Given the description of an element on the screen output the (x, y) to click on. 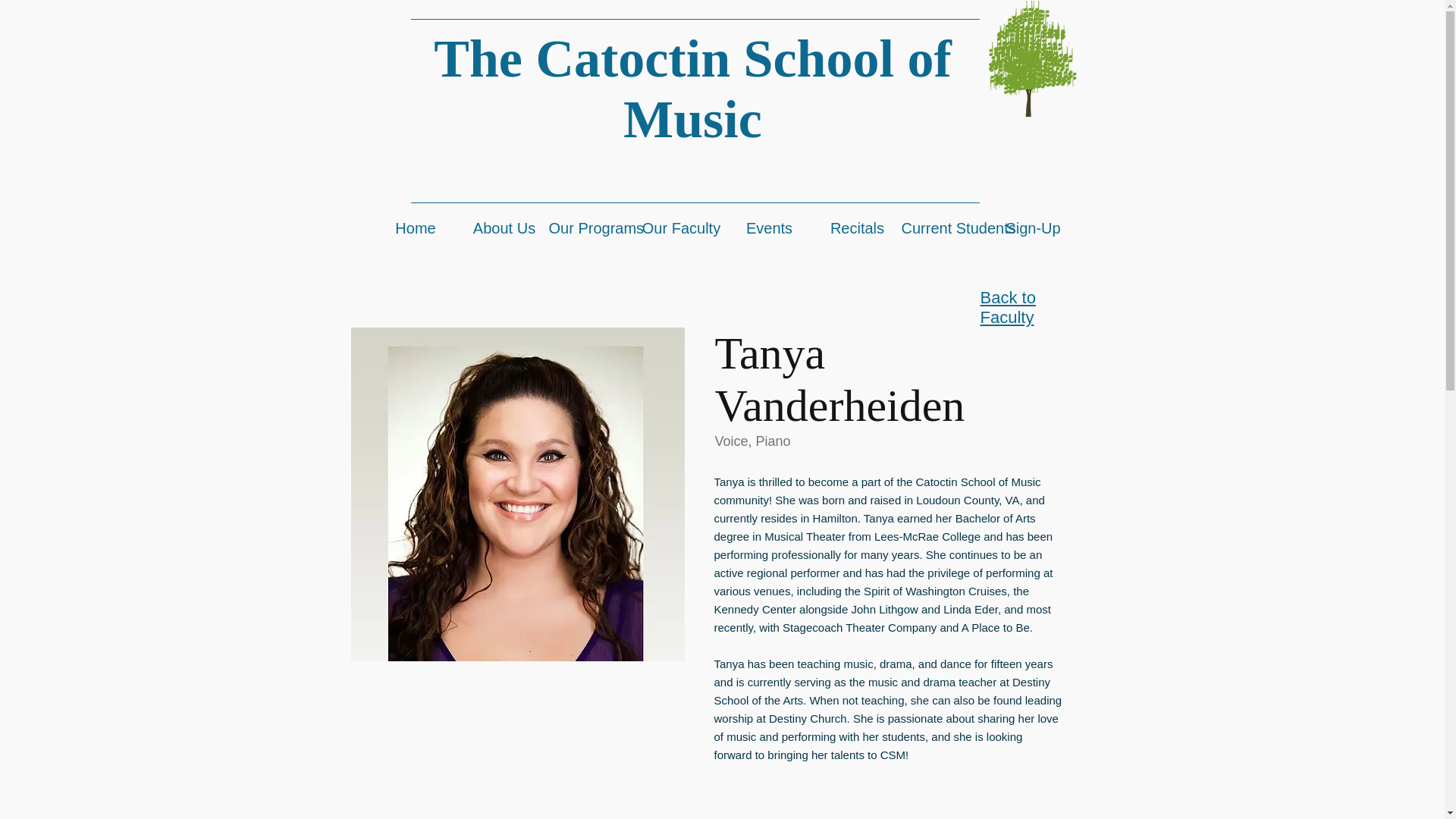
Home (415, 228)
Capture 2.JPG (517, 493)
The Catoctin School of Music (692, 88)
Events (768, 228)
Recitals (856, 228)
Our Faculty (681, 228)
Sign-Up (1032, 228)
About Us (504, 228)
Back to Faculty (1007, 307)
Our Programs (592, 228)
